Given the description of an element on the screen output the (x, y) to click on. 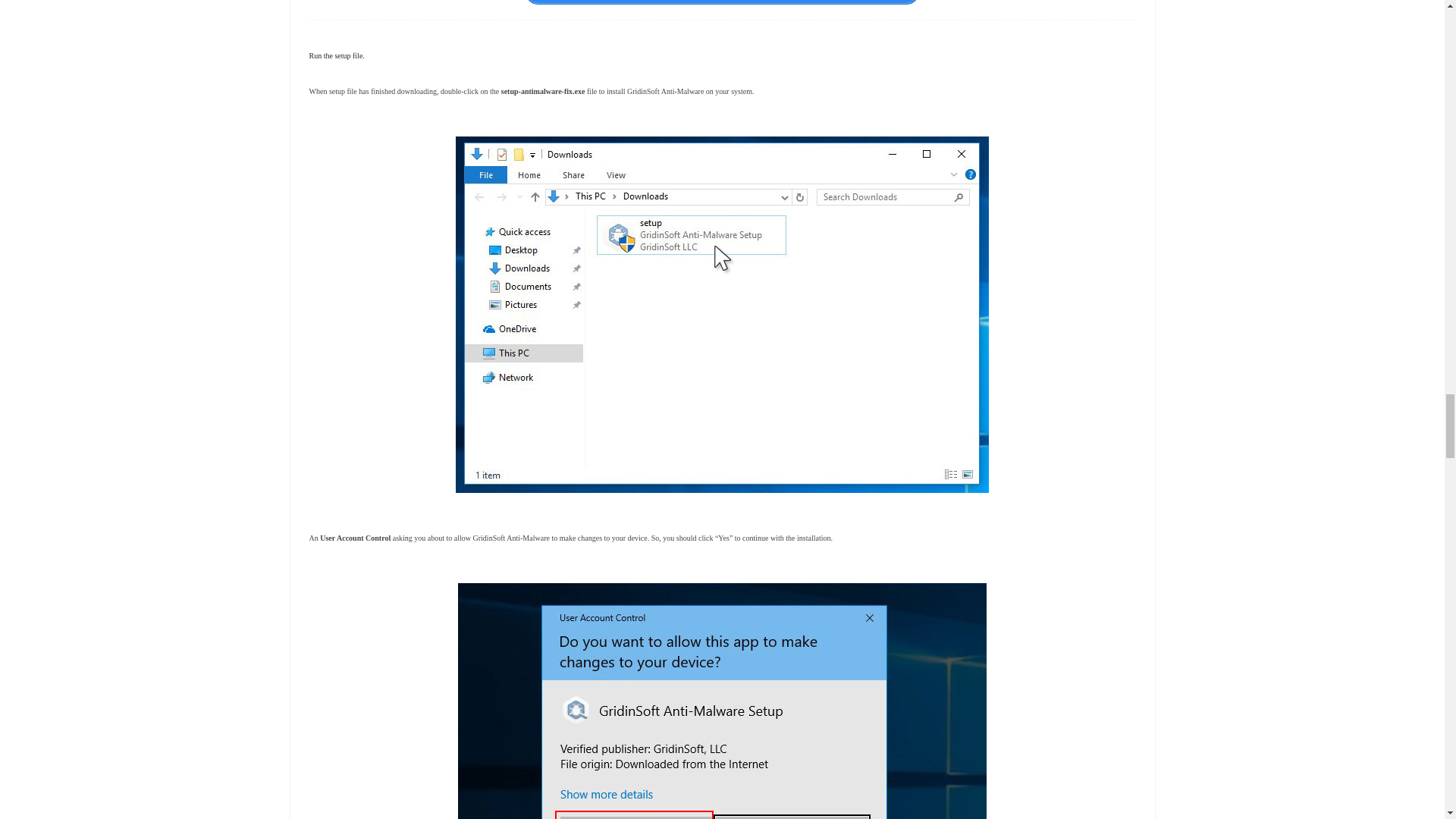
Download GridinSoft Anti-Malware (721, 2)
